Given the description of an element on the screen output the (x, y) to click on. 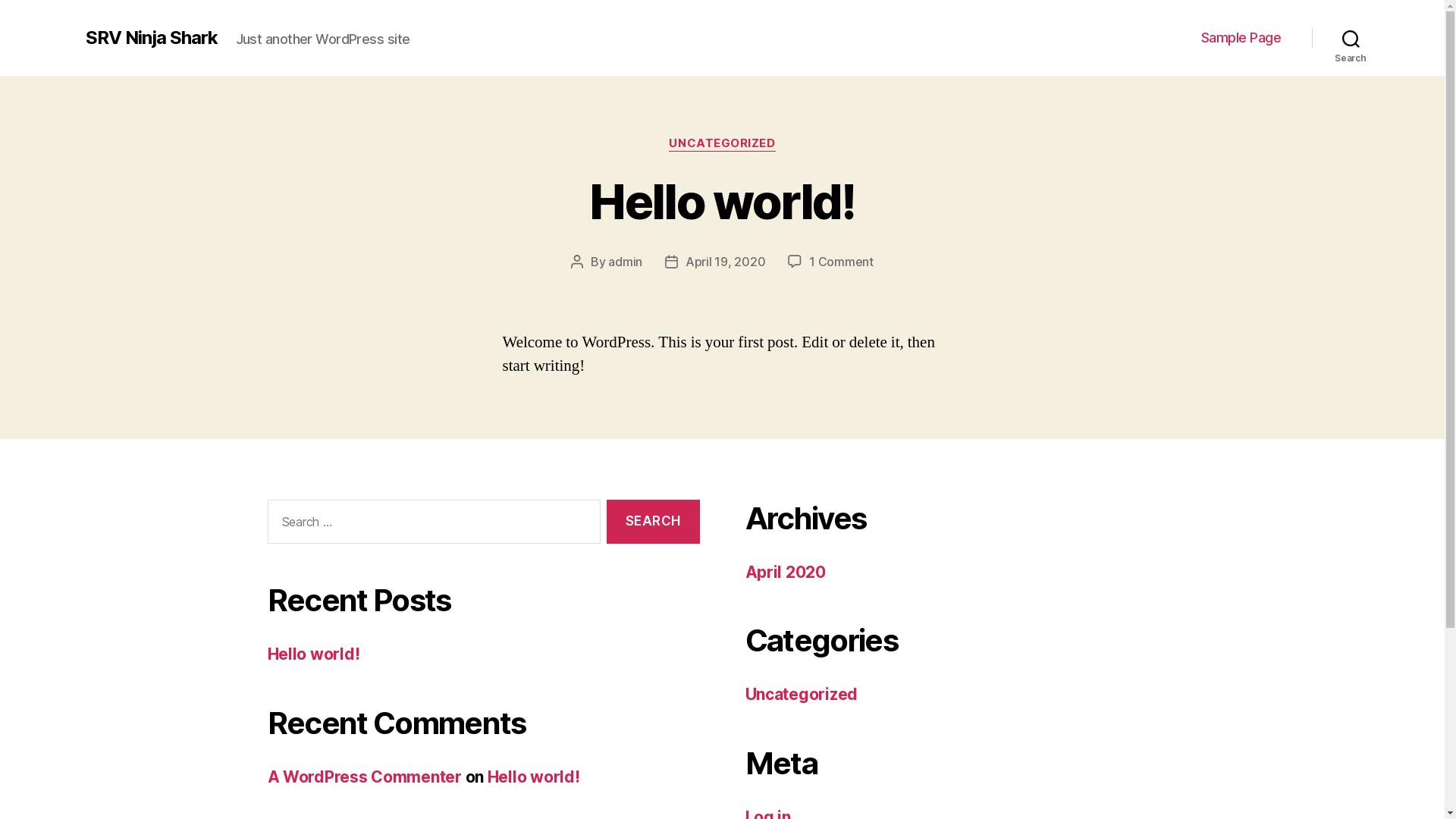
Hello world! Element type: text (721, 201)
SRV Ninja Shark Element type: text (150, 37)
Uncategorized Element type: text (800, 693)
UNCATEGORIZED Element type: text (721, 143)
Search Element type: text (652, 521)
1 Comment
on Hello world! Element type: text (841, 261)
Search Element type: text (1350, 37)
admin Element type: text (625, 261)
Hello world! Element type: text (312, 653)
Hello world! Element type: text (533, 776)
April 19, 2020 Element type: text (725, 261)
Sample Page Element type: text (1241, 37)
A WordPress Commenter Element type: text (363, 776)
April 2020 Element type: text (784, 571)
